Given the description of an element on the screen output the (x, y) to click on. 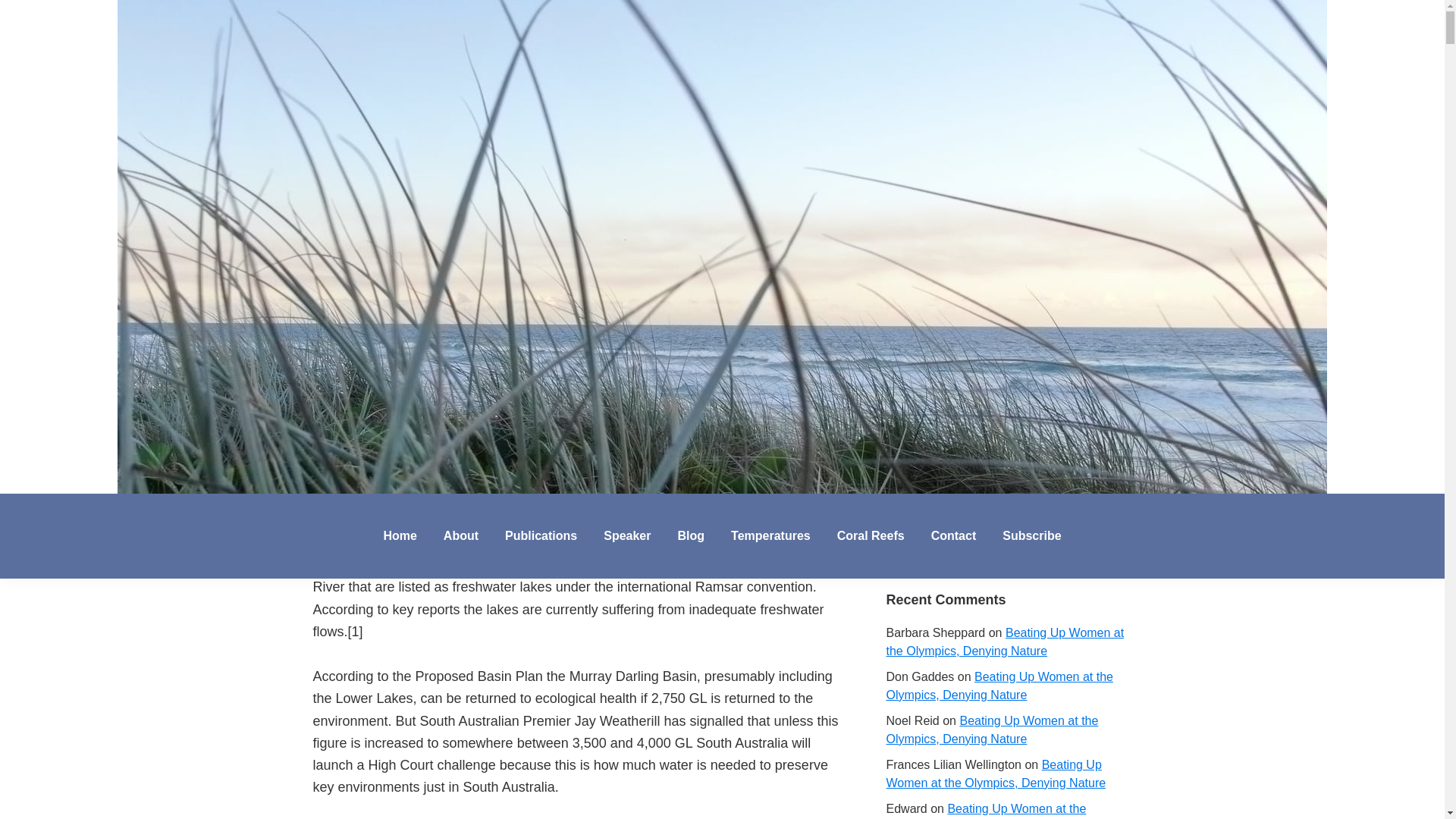
Temperatures (770, 535)
Coral Reefs (870, 535)
Publications (540, 535)
Jennifer Marohasy (150, 508)
About (460, 535)
jennifer (428, 109)
Subscribe (1031, 535)
Contact (954, 535)
Home (399, 535)
Speaker (627, 535)
Blog (690, 535)
